Given the description of an element on the screen output the (x, y) to click on. 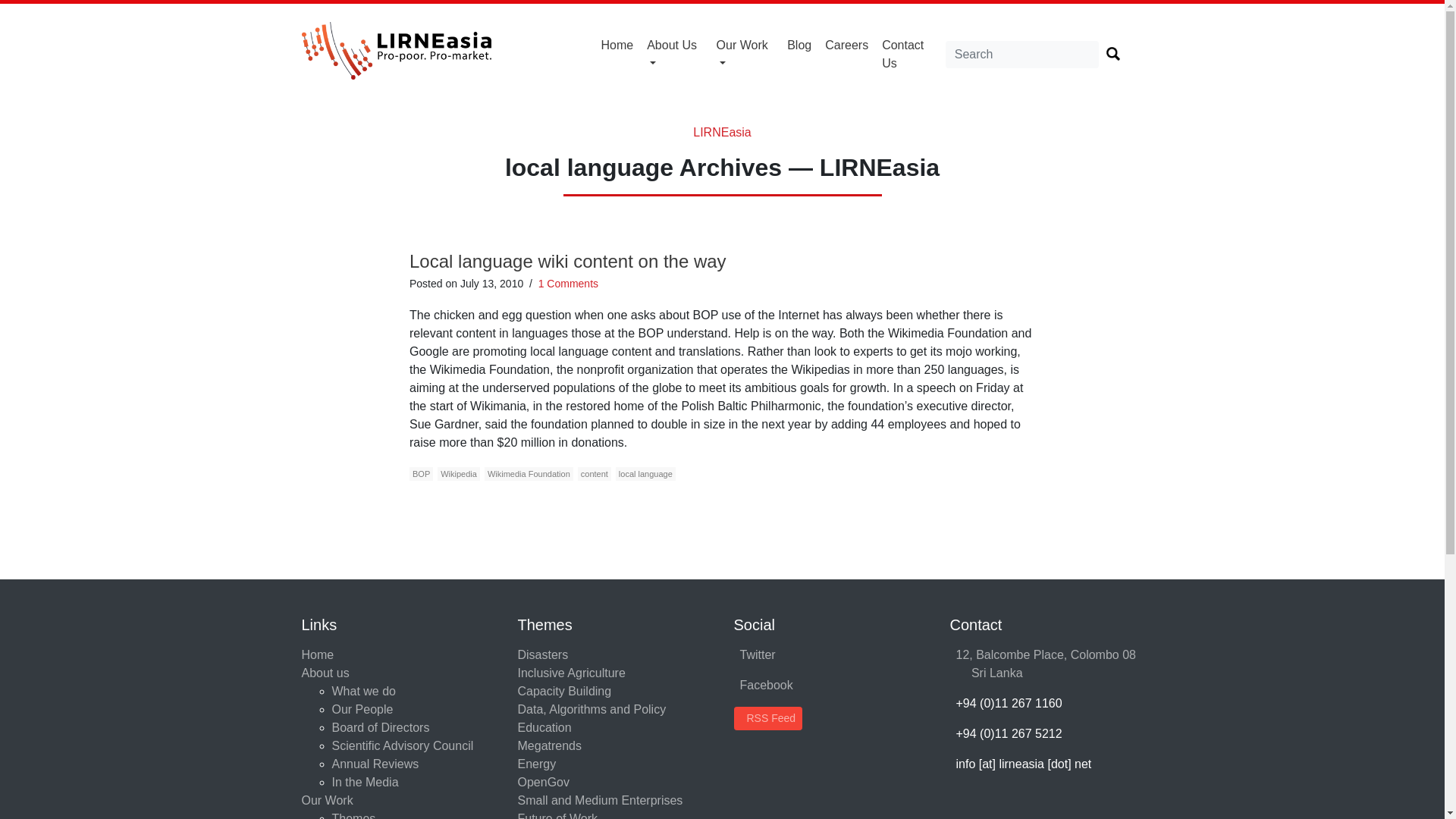
Blog (799, 45)
Our Work (745, 54)
Home (617, 45)
About Us (674, 54)
Contact Us (909, 54)
Home (617, 45)
Search for: (1021, 53)
About us (674, 54)
Our Work (745, 54)
Careers (846, 45)
Blog (799, 45)
Careers (846, 45)
Local language wiki content on the way (567, 260)
1 Comments (568, 283)
LIRNEasia (722, 132)
